Given the description of an element on the screen output the (x, y) to click on. 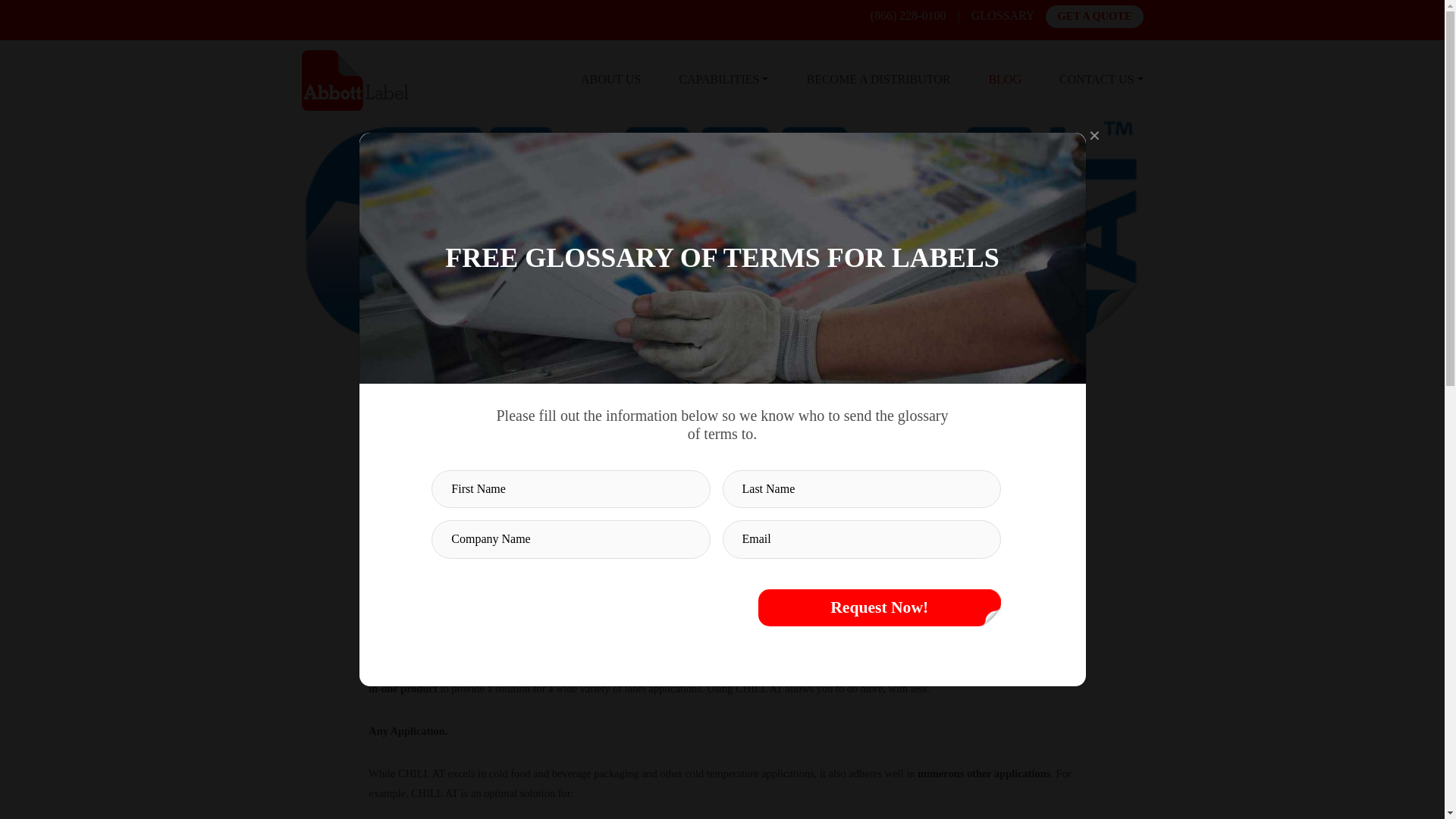
CONTACT US (1101, 80)
Contact Us (1101, 80)
CAPABILITIES (723, 80)
Request Now! (879, 607)
About Us (610, 80)
Blog (1005, 80)
BLOG (1005, 80)
BECOME A DISTRIBUTOR (878, 80)
GLOSSARY (1002, 16)
Become A Distributor (878, 80)
Capabilities (723, 80)
ABOUT US (610, 80)
GET A QUOTE (1093, 15)
